Given the description of an element on the screen output the (x, y) to click on. 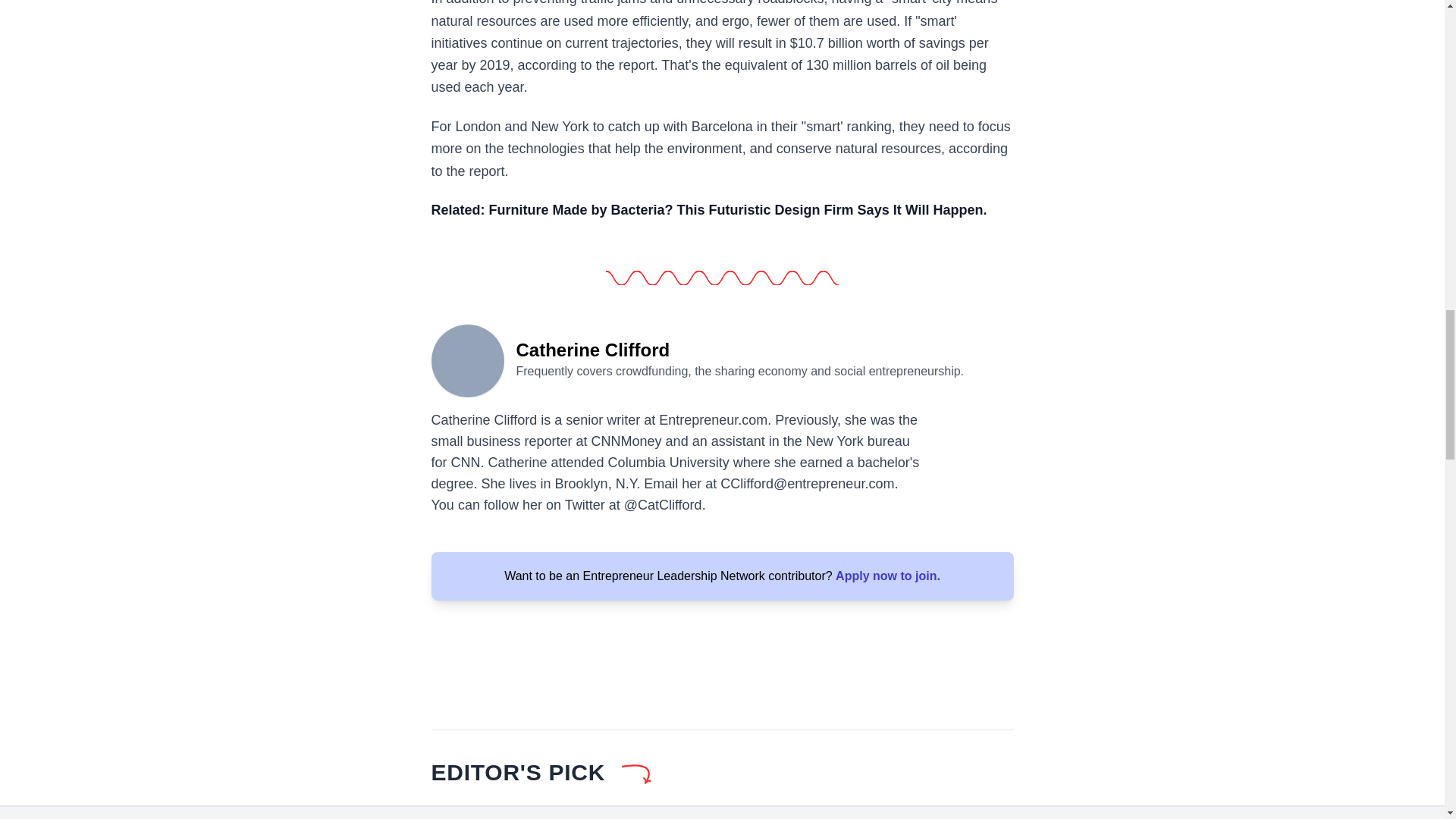
Catherine Clifford (466, 359)
